Given the description of an element on the screen output the (x, y) to click on. 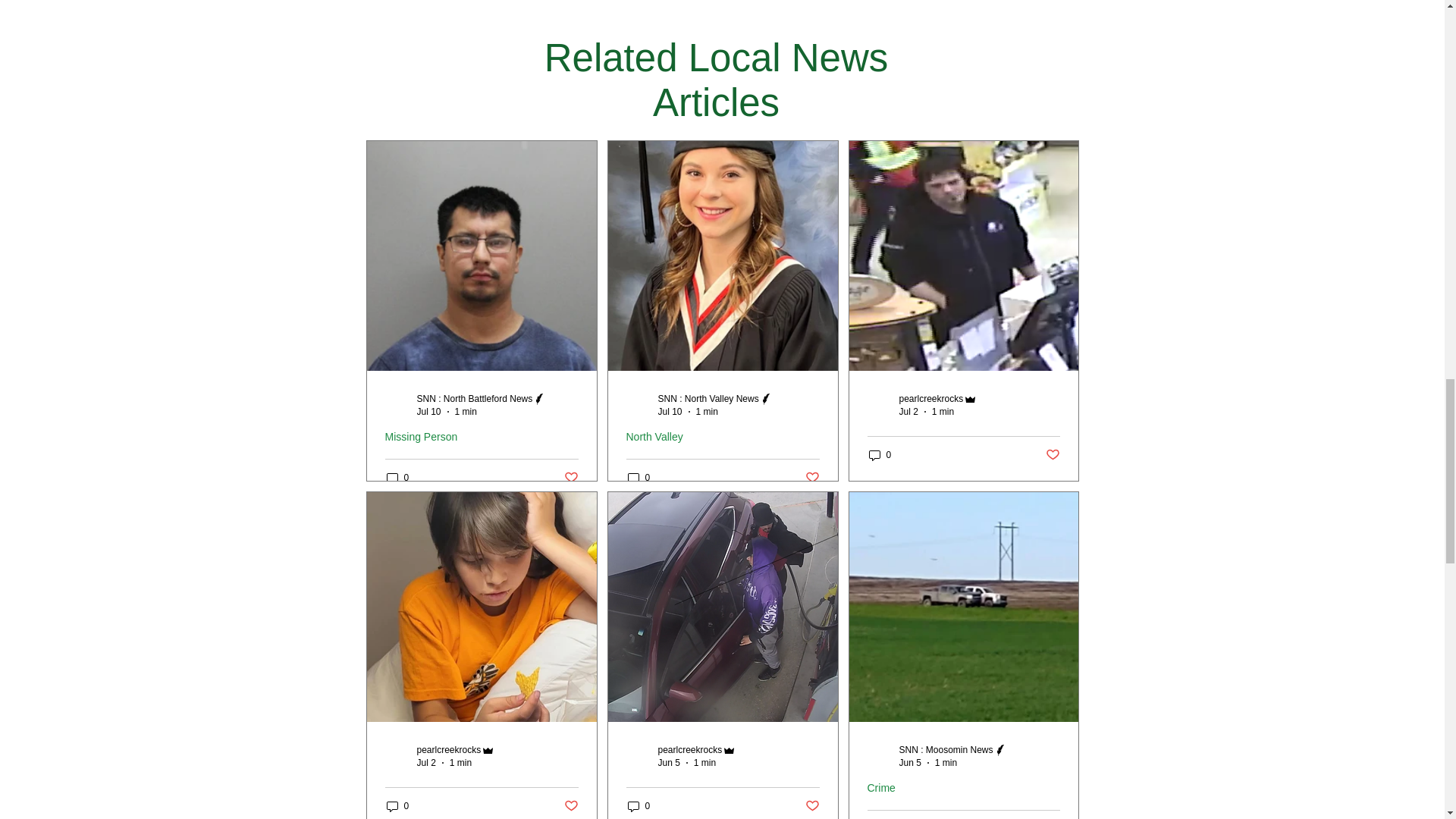
1 min (705, 762)
Jun 5 (668, 762)
1 min (945, 762)
1 min (460, 762)
Jun 5 (910, 762)
Jul 10 (428, 411)
SNN : North Valley News (708, 398)
Jul 2 (908, 411)
pearlcreekrocks (448, 749)
Jul 2 (425, 762)
1 min (465, 411)
pearlcreekrocks (690, 749)
1 min (706, 411)
Jul 10 (670, 411)
1 min (942, 411)
